Given the description of an element on the screen output the (x, y) to click on. 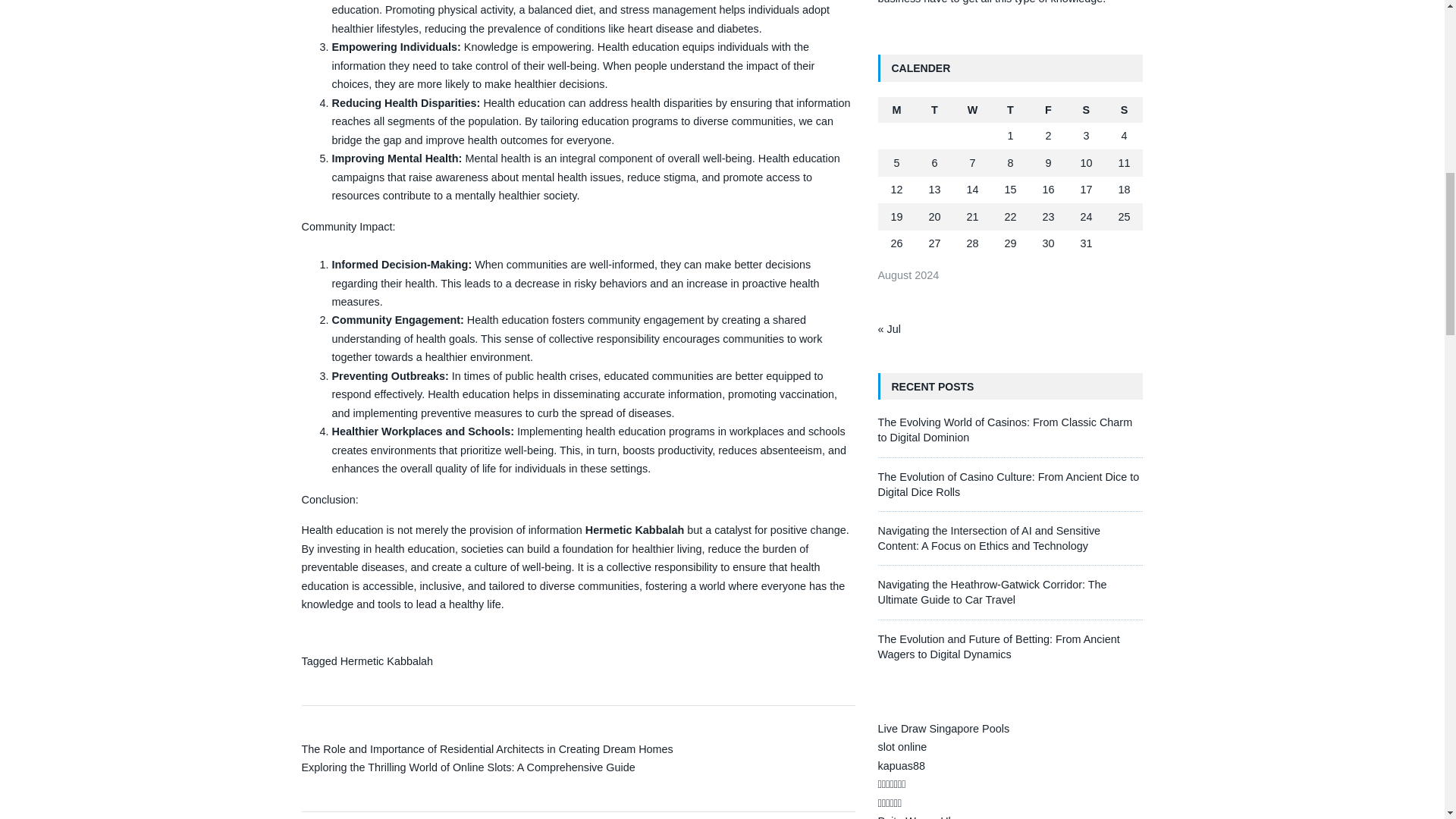
10 (1086, 162)
15 (1010, 189)
18 (1123, 189)
11 (1123, 162)
19 (895, 216)
12 (895, 189)
